Given the description of an element on the screen output the (x, y) to click on. 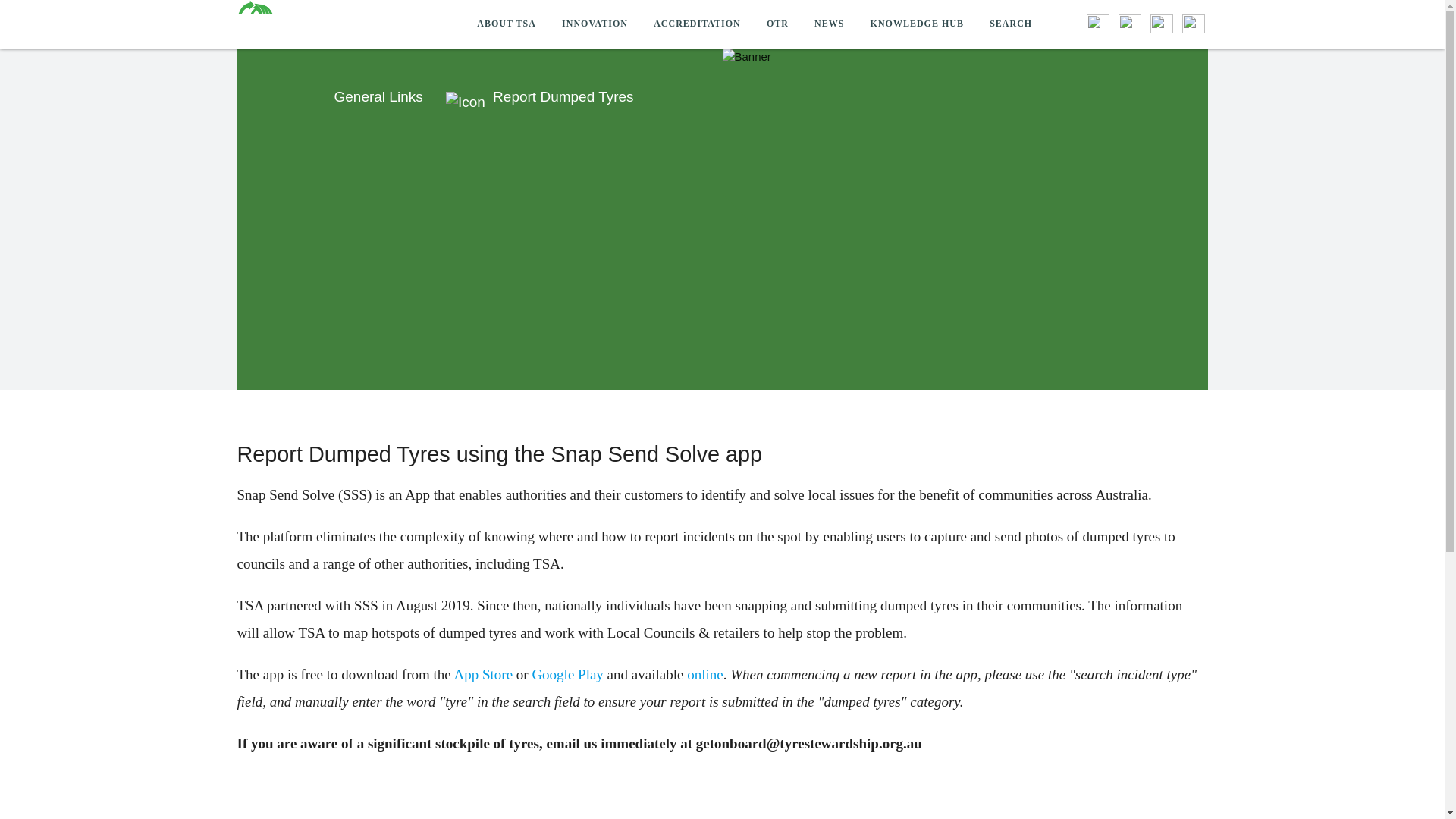
ABOUT TSA (506, 23)
Linkedin (1155, 15)
OTR (777, 23)
Youtube (1187, 15)
Facebook (1092, 15)
ACCREDITATION (697, 23)
INNOVATION (594, 23)
NEWS (829, 23)
Twitter (1124, 15)
